Given the description of an element on the screen output the (x, y) to click on. 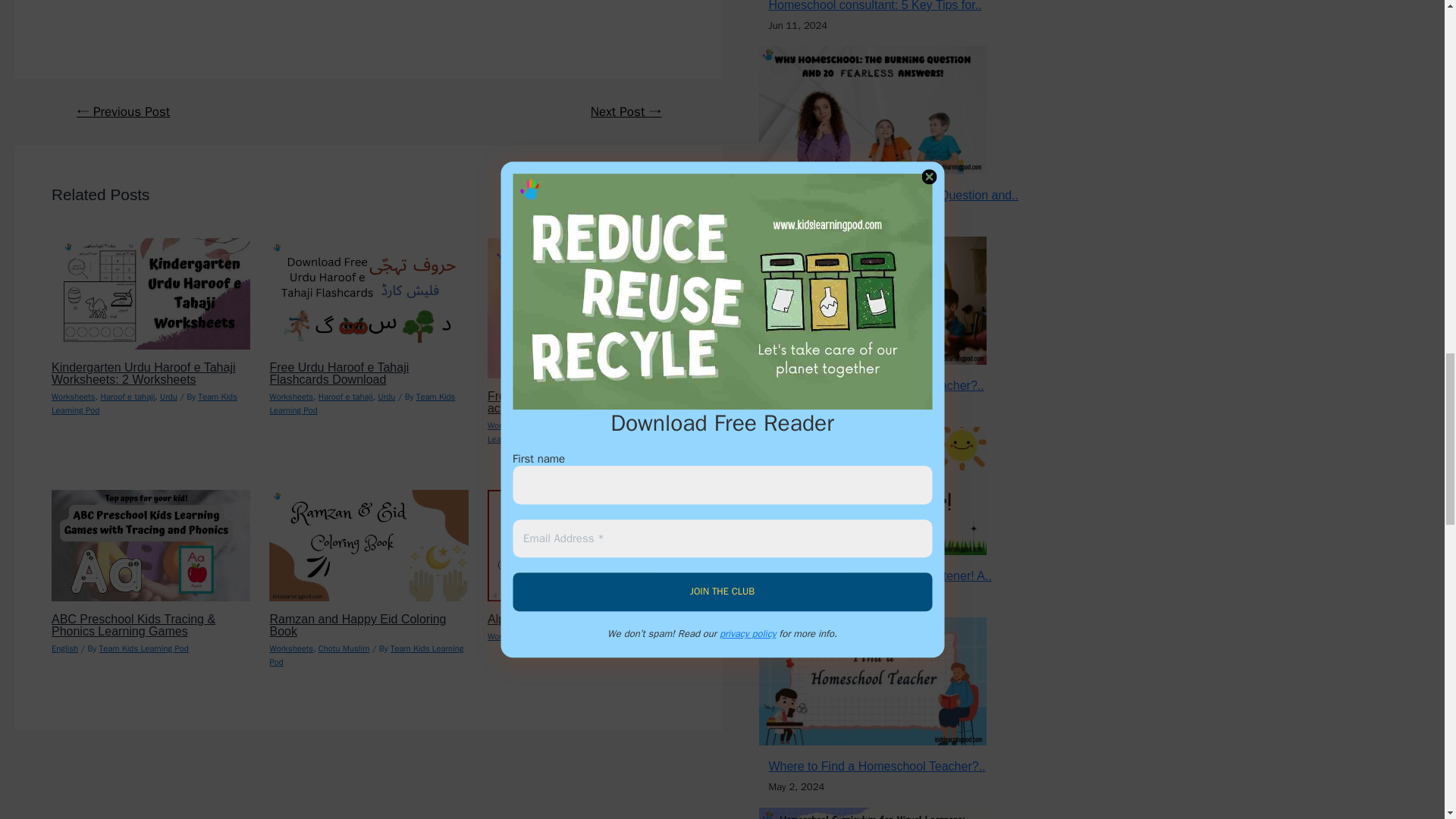
Urdu (385, 396)
Kindergarten Urdu Haroof e Tahaji Worksheets: 2 Worksheets (142, 373)
View all posts by Team Kids Learning Pod (627, 635)
Free printable Urdu haroof e tahaji activities (579, 401)
View all posts by Team Kids Learning Pod (144, 647)
Team Kids Learning Pod (143, 403)
View all posts by Team Kids Learning Pod (366, 654)
Haroof e tahaji (345, 396)
Worksheets (73, 396)
Worksheets (291, 396)
Team Kids Learning Pod (361, 403)
Haroof e tahaji (127, 396)
View all posts by Team Kids Learning Pod (361, 403)
Free Urdu Haroof e Tahaji Flashcards Download (339, 373)
Urdu (168, 396)
